Given the description of an element on the screen output the (x, y) to click on. 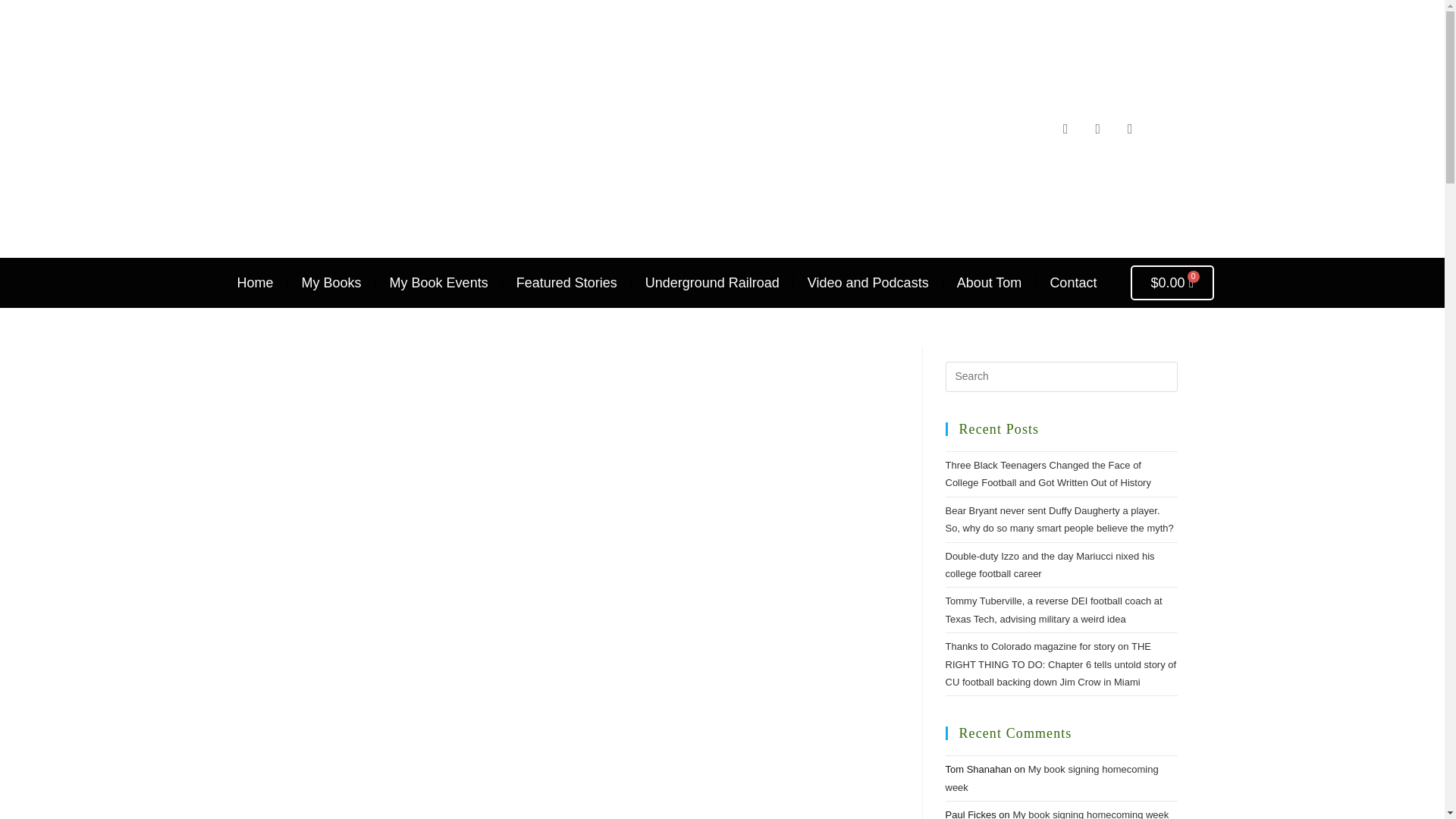
My Book Events (438, 282)
Contact (1072, 282)
My Books (331, 282)
Featured Stories (566, 282)
Home (255, 282)
About Tom (989, 282)
Underground Railroad (711, 282)
Video and Podcasts (868, 282)
